Given the description of an element on the screen output the (x, y) to click on. 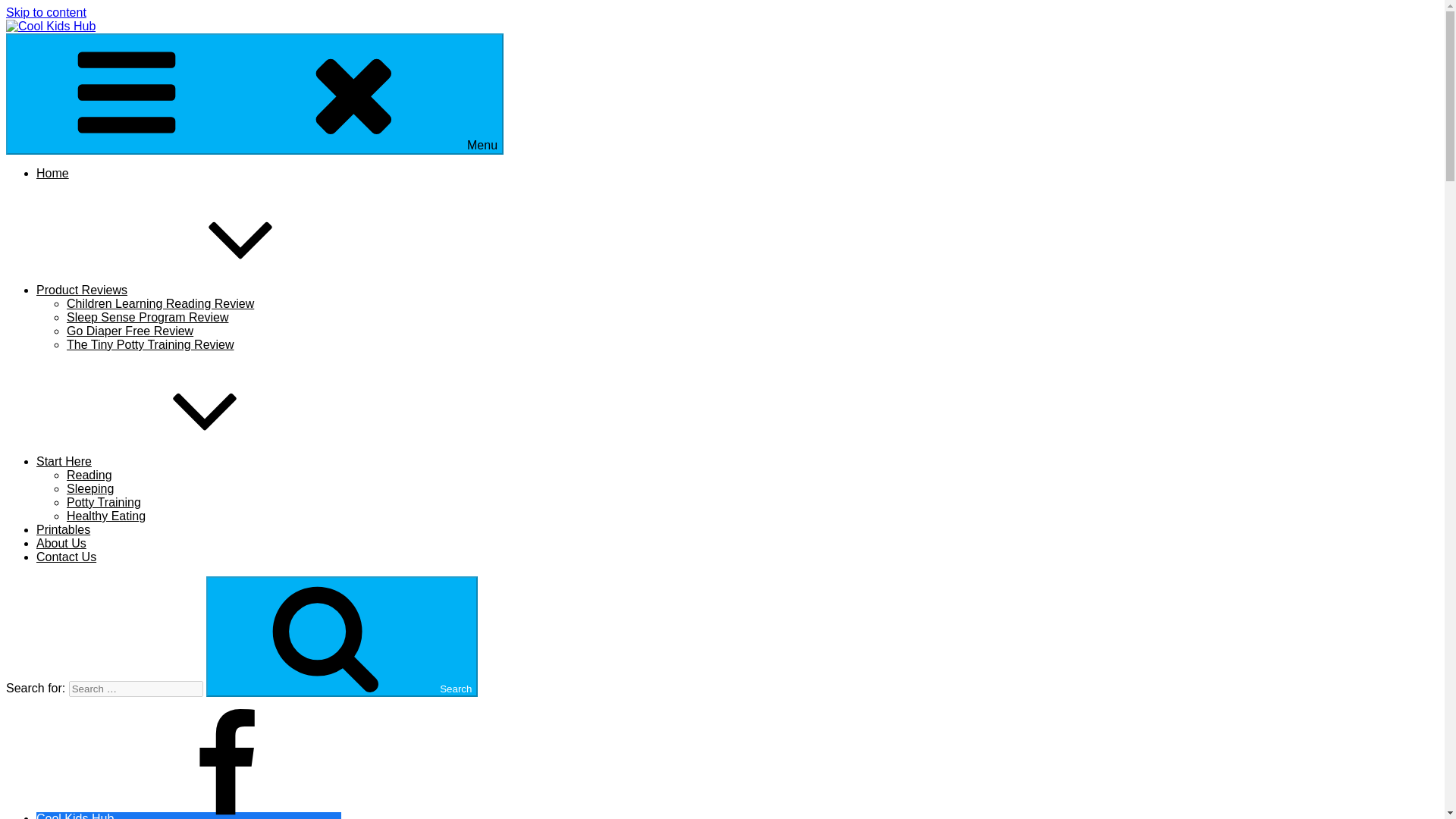
Cool Kids Hub (188, 815)
Start Here (177, 461)
Skip to content (45, 11)
Printables (63, 529)
Product Reviews (195, 289)
Go Diaper Free Review (129, 330)
Sleep Sense Program Review (147, 317)
Search (341, 636)
Reading (89, 474)
Home (52, 173)
